Given the description of an element on the screen output the (x, y) to click on. 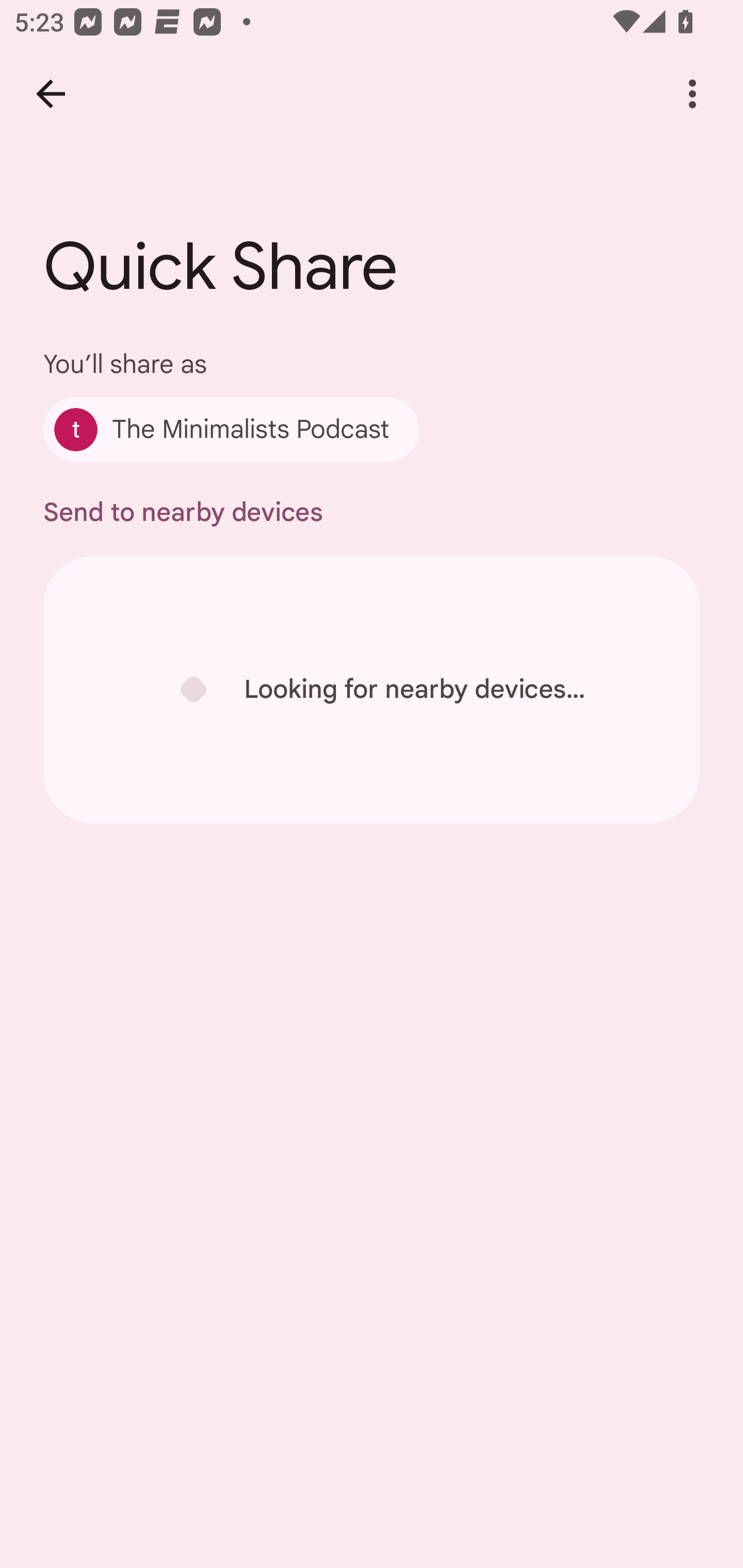
Back (50, 93)
More (692, 93)
The Minimalists Podcast (231, 429)
